Given the description of an element on the screen output the (x, y) to click on. 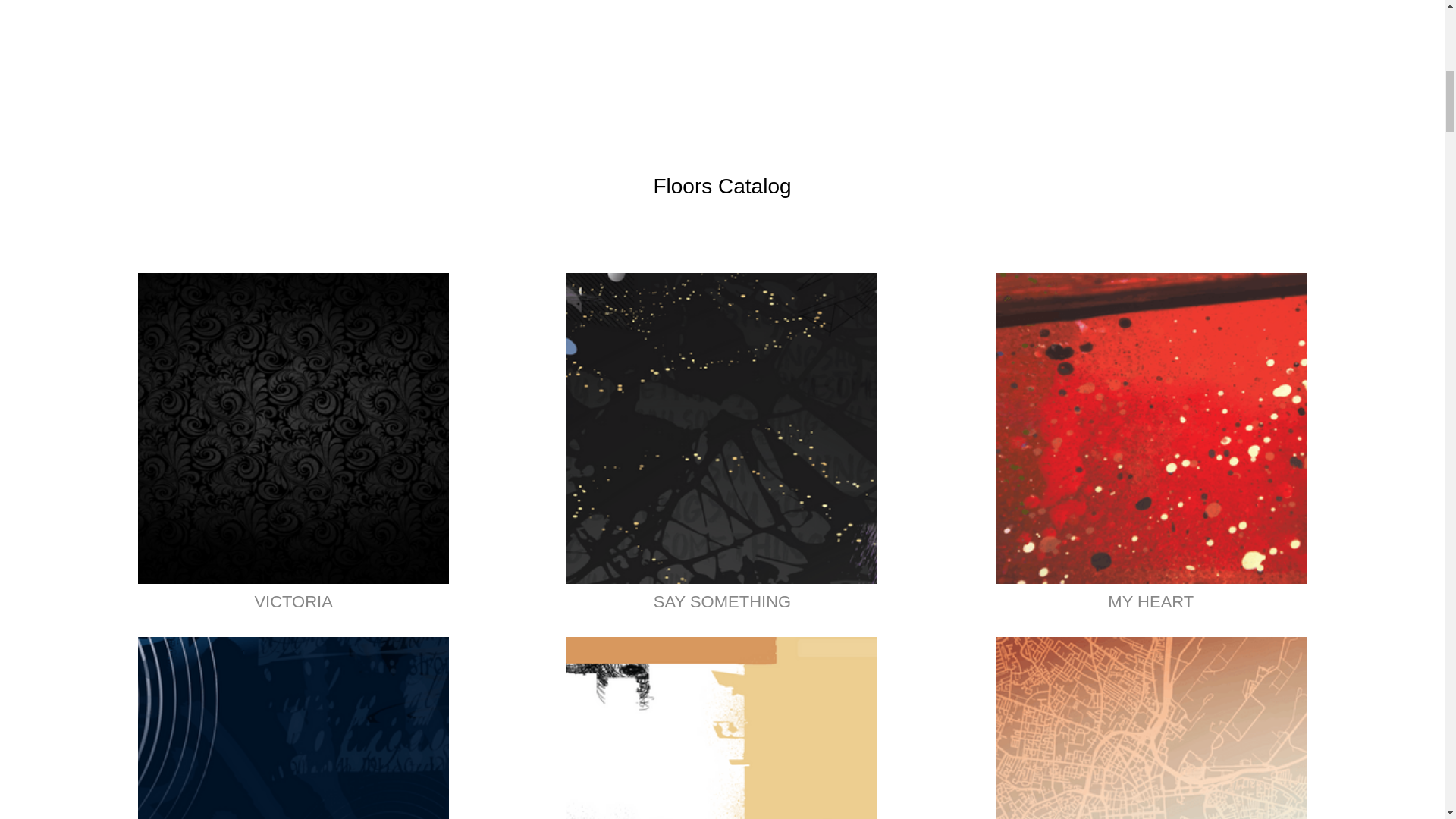
HOME (721, 728)
WHERE THE STREETS HAVE NO NAME (1150, 728)
LOST LESSON (293, 728)
